Given the description of an element on the screen output the (x, y) to click on. 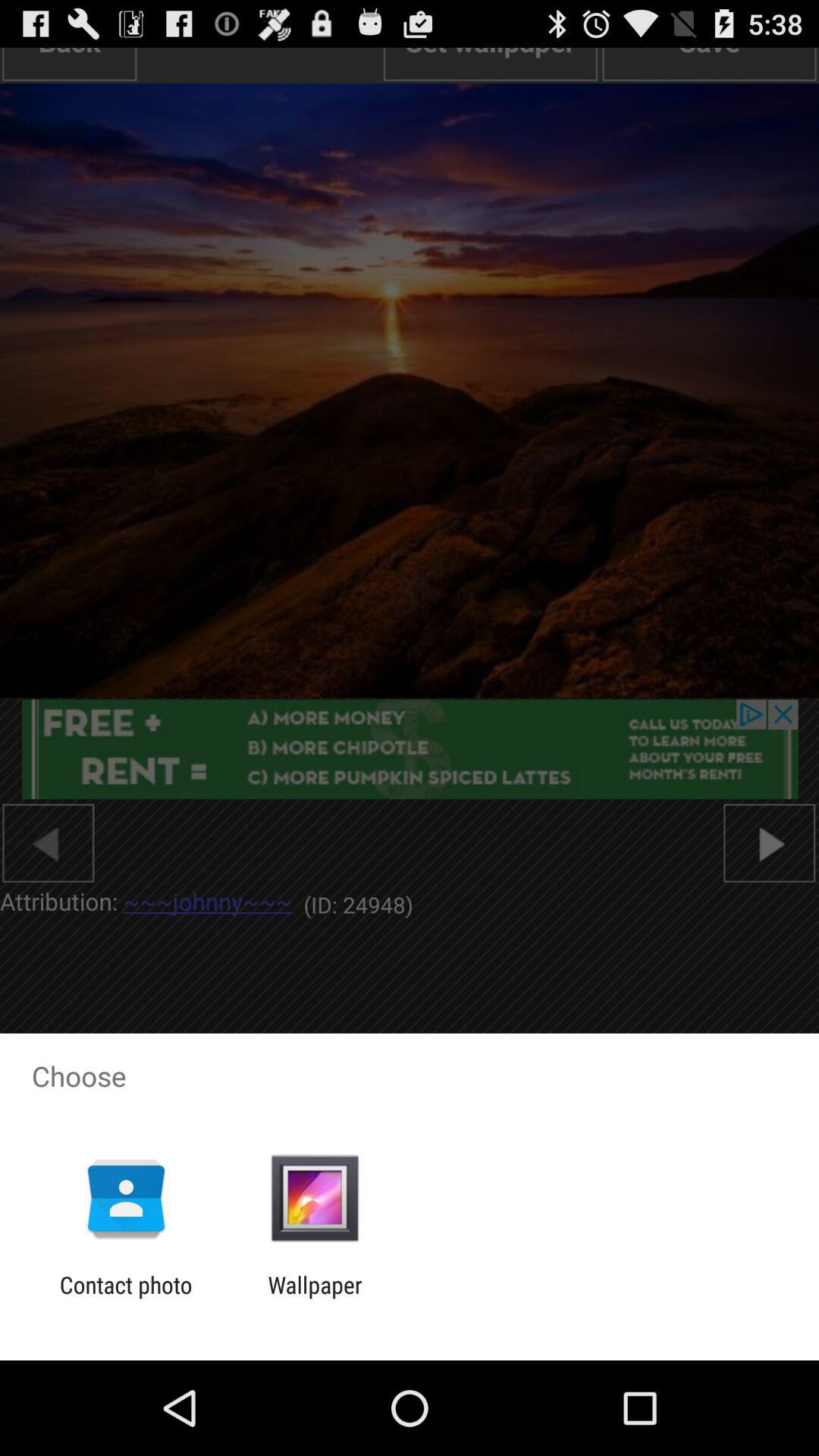
select the wallpaper app (314, 1298)
